Given the description of an element on the screen output the (x, y) to click on. 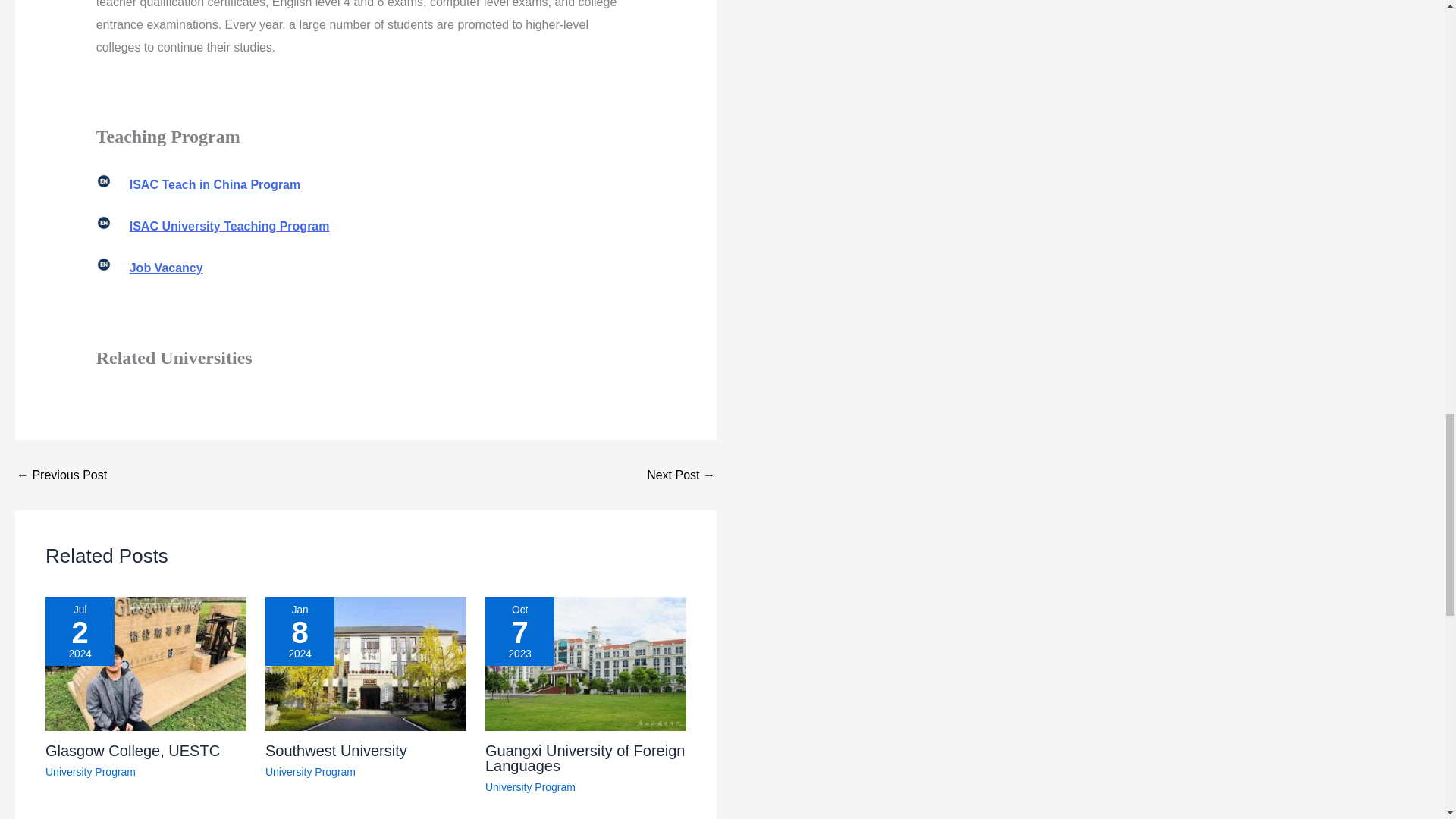
Jinzhong Teachers College (680, 475)
Yuncheng Polytechnic College (61, 475)
